Given the description of an element on the screen output the (x, y) to click on. 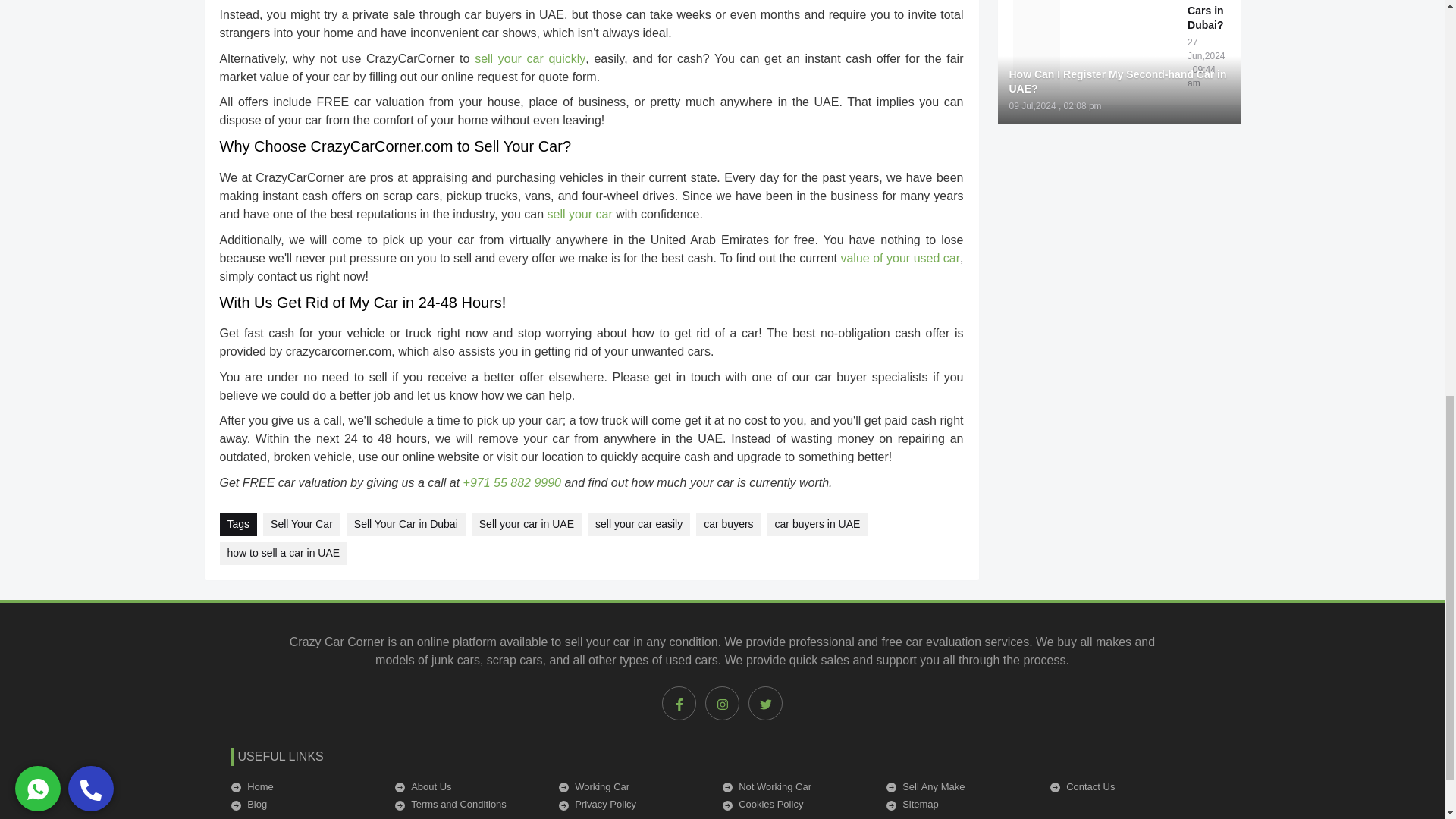
Can You Sell Cars in Dubai? (1129, 15)
Sell Any Make (957, 787)
Home (302, 787)
Contact Us (1122, 787)
Cookies Policy (794, 804)
How Can I Register My Second-hand Car in UAE? (1118, 81)
value of your used car (899, 257)
sell your car quickly (529, 58)
Terms and Conditions (467, 804)
Can You Sell Cars in Dubai? (1206, 16)
